Given the description of an element on the screen output the (x, y) to click on. 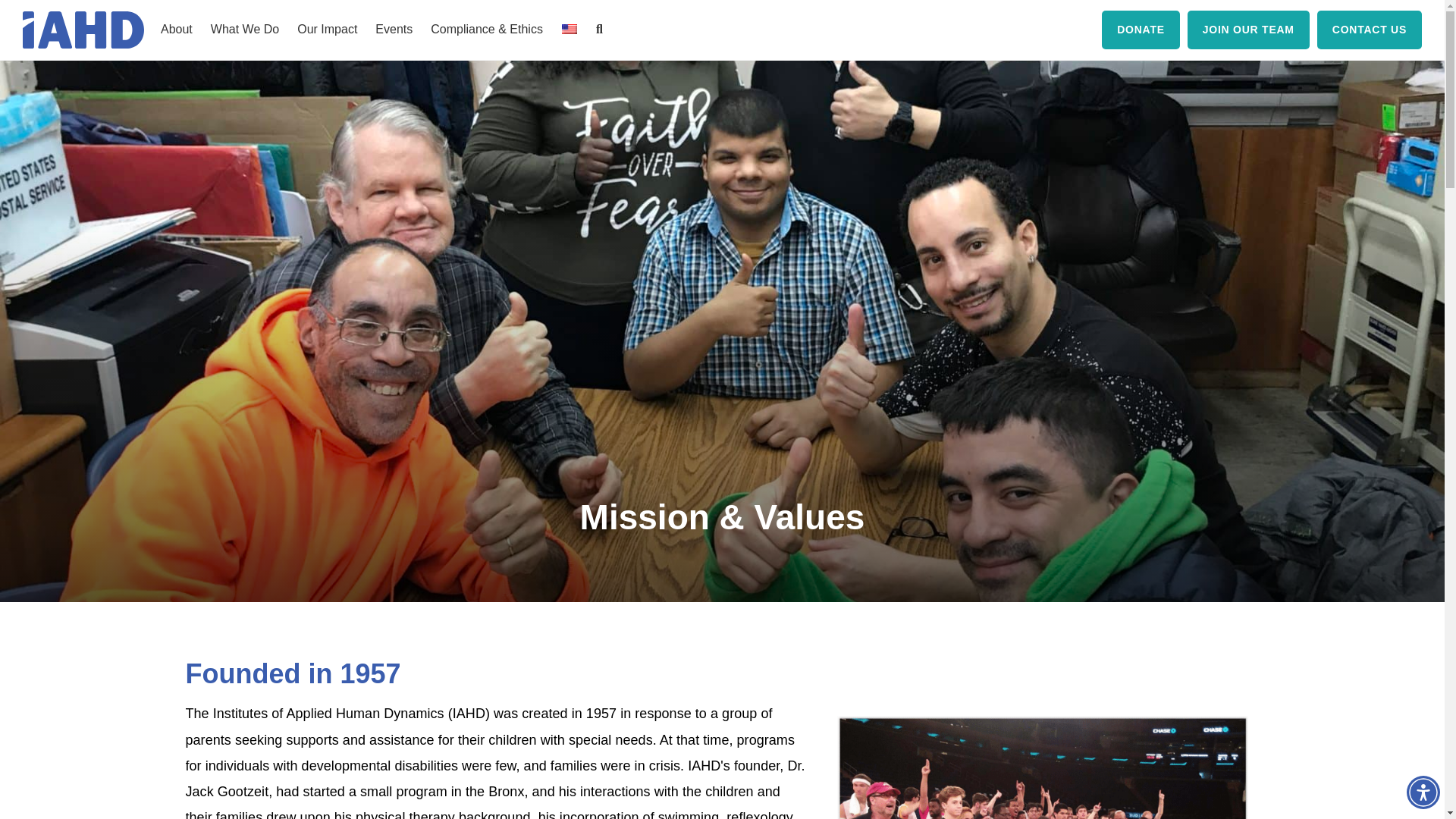
Our Impact (327, 29)
Iahd Logo Blue (83, 29)
Accessibility Menu (1422, 792)
Events (394, 29)
Miracle League (1042, 767)
English (569, 29)
What We Do (245, 29)
About (176, 29)
